Given the description of an element on the screen output the (x, y) to click on. 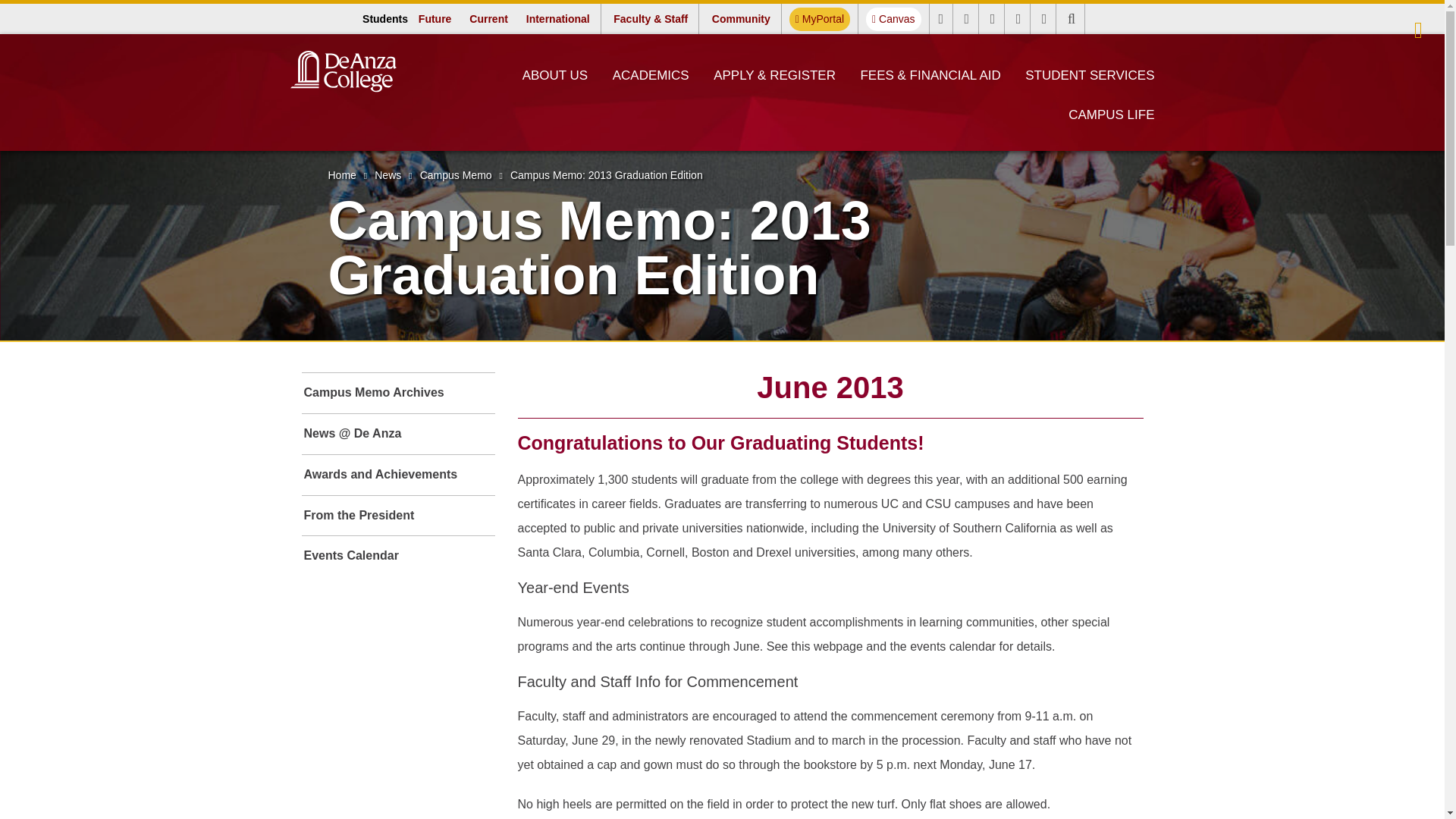
CAMPUS LIFE (1111, 114)
Future (435, 18)
Home (341, 174)
Awards and Achievements (398, 475)
Current (488, 18)
ABOUT US (555, 75)
Community (740, 18)
Events Calendar (398, 556)
Campus Memo (819, 19)
ACADEMICS (456, 174)
International (651, 75)
From the President (557, 18)
Campus Memo Archives (398, 516)
Canvas (398, 393)
